Given the description of an element on the screen output the (x, y) to click on. 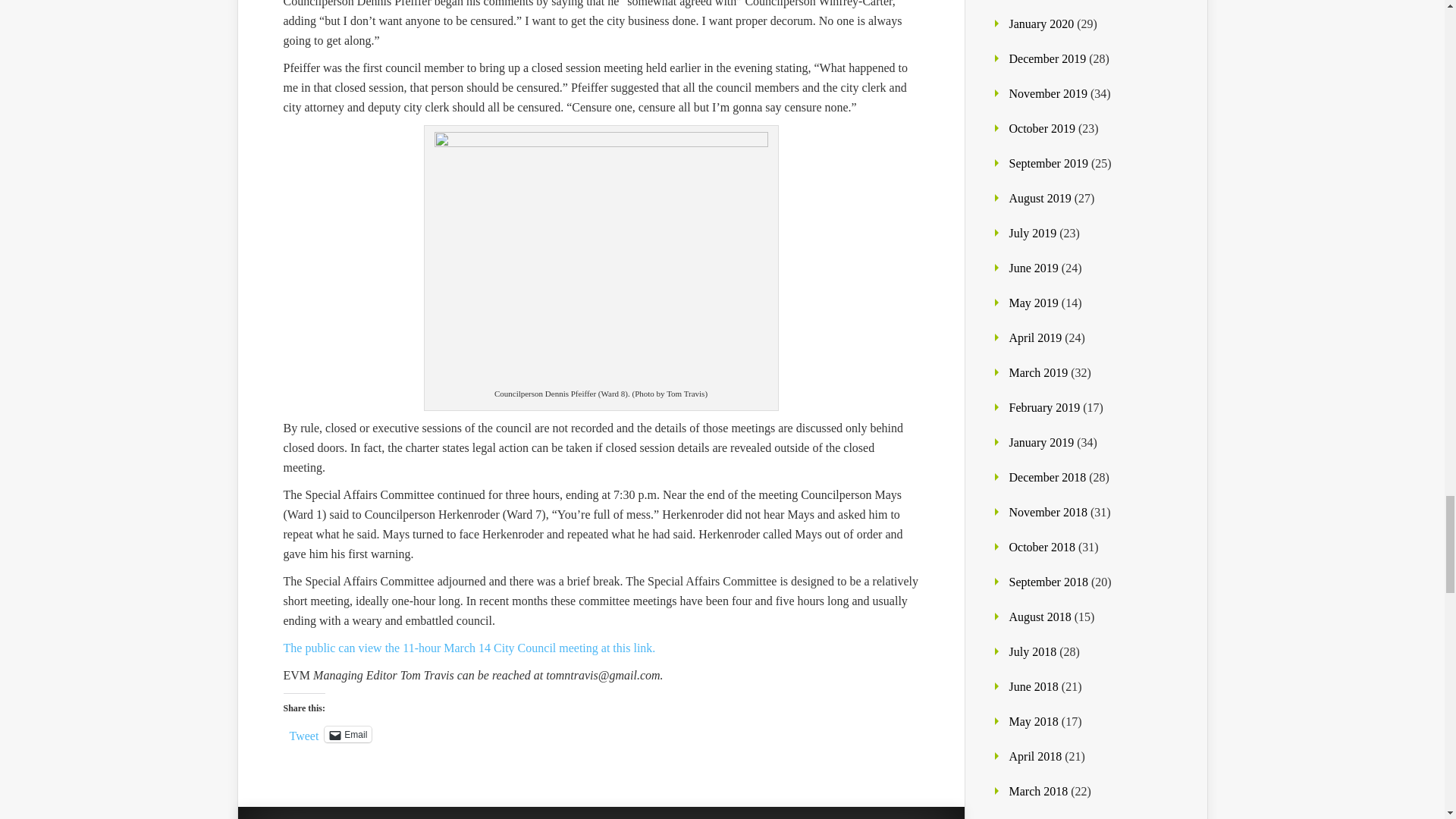
Email (347, 734)
Click to email a link to a friend (347, 734)
Tweet (303, 733)
